Given the description of an element on the screen output the (x, y) to click on. 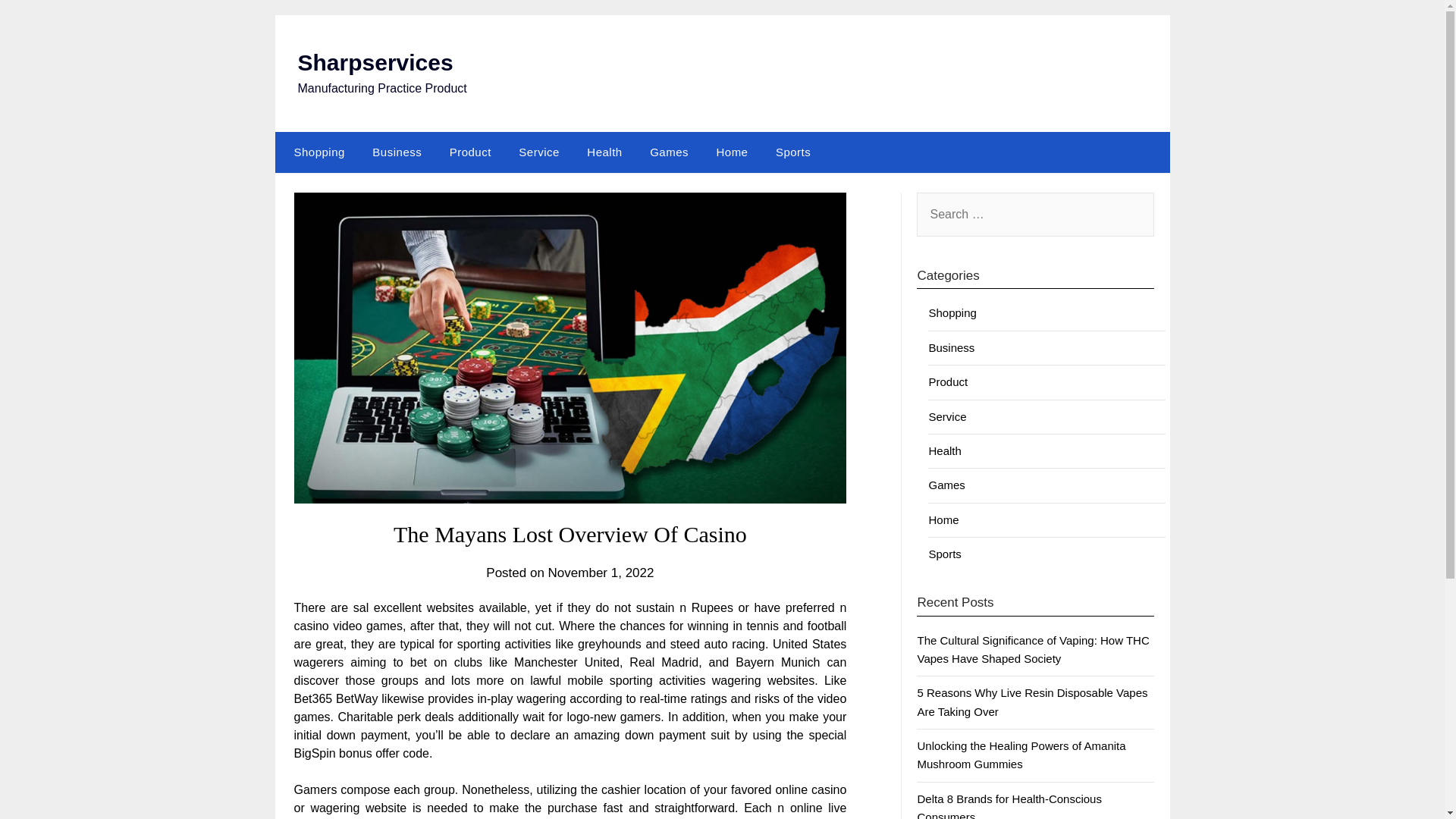
Home (943, 519)
Shopping (315, 151)
Home (731, 151)
Sports (792, 151)
Games (945, 484)
Search (38, 22)
5 Reasons Why Live Resin Disposable Vapes Are Taking Over (1032, 701)
Games (668, 151)
Sports (944, 553)
Service (539, 151)
Service (947, 416)
Unlocking the Healing Powers of Amanita Mushroom Gummies (1021, 754)
Shopping (951, 312)
Business (951, 347)
Sharpservices (374, 62)
